Given the description of an element on the screen output the (x, y) to click on. 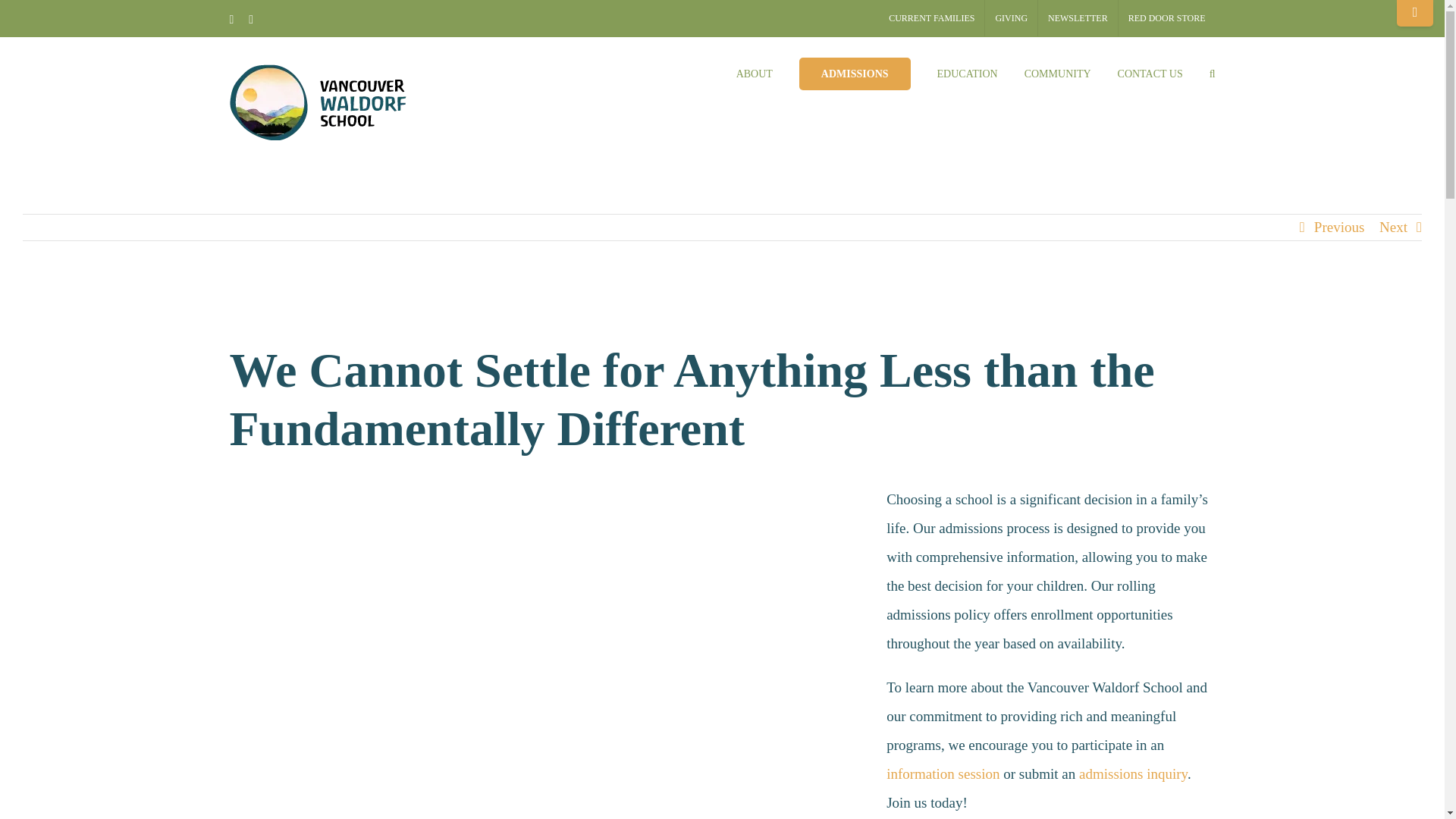
GIVING (1010, 18)
COMMUNITY (1057, 72)
CURRENT FAMILIES (931, 18)
NEWSLETTER (1078, 18)
ADMISSIONS (855, 72)
RED DOOR STORE (1166, 18)
